Given the description of an element on the screen output the (x, y) to click on. 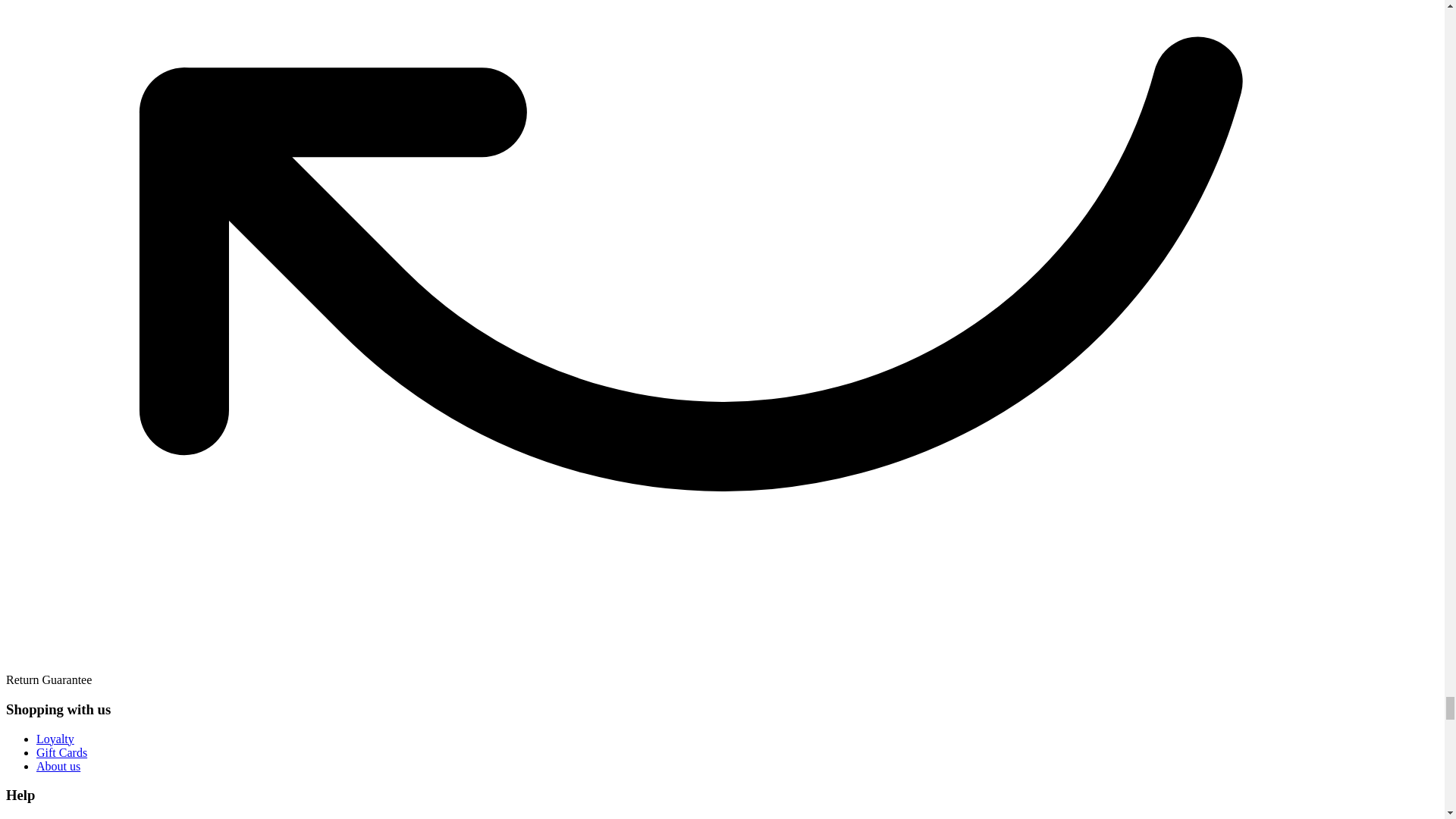
Gift Cards (61, 752)
About us (58, 766)
Loyalty (55, 738)
Contact us (61, 818)
